Given the description of an element on the screen output the (x, y) to click on. 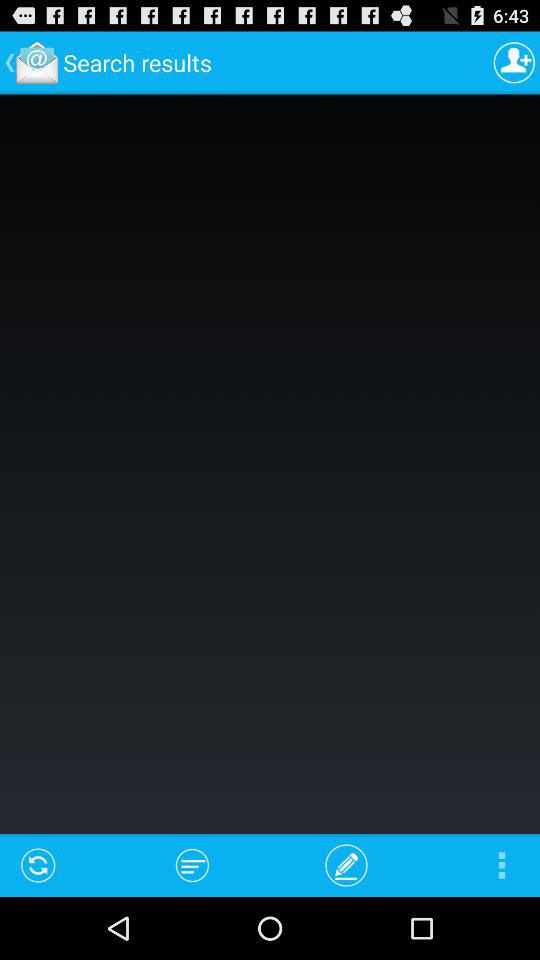
launch icon next to search results app (514, 62)
